Given the description of an element on the screen output the (x, y) to click on. 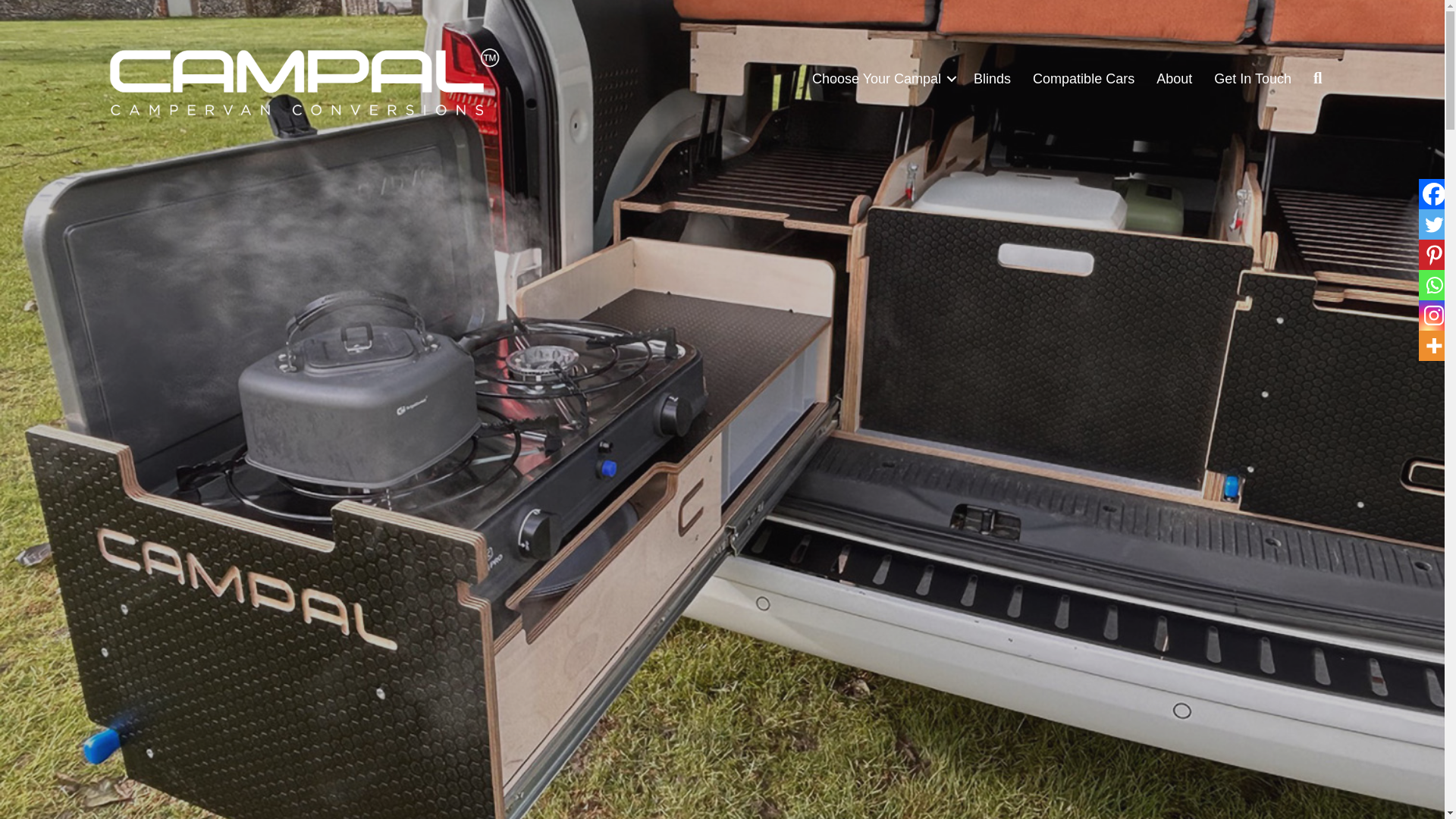
Choose Your Campal (882, 78)
Search (1321, 78)
About (1173, 78)
Compatible Cars (1083, 78)
Blinds (992, 78)
Get In Touch (1252, 78)
